Given the description of an element on the screen output the (x, y) to click on. 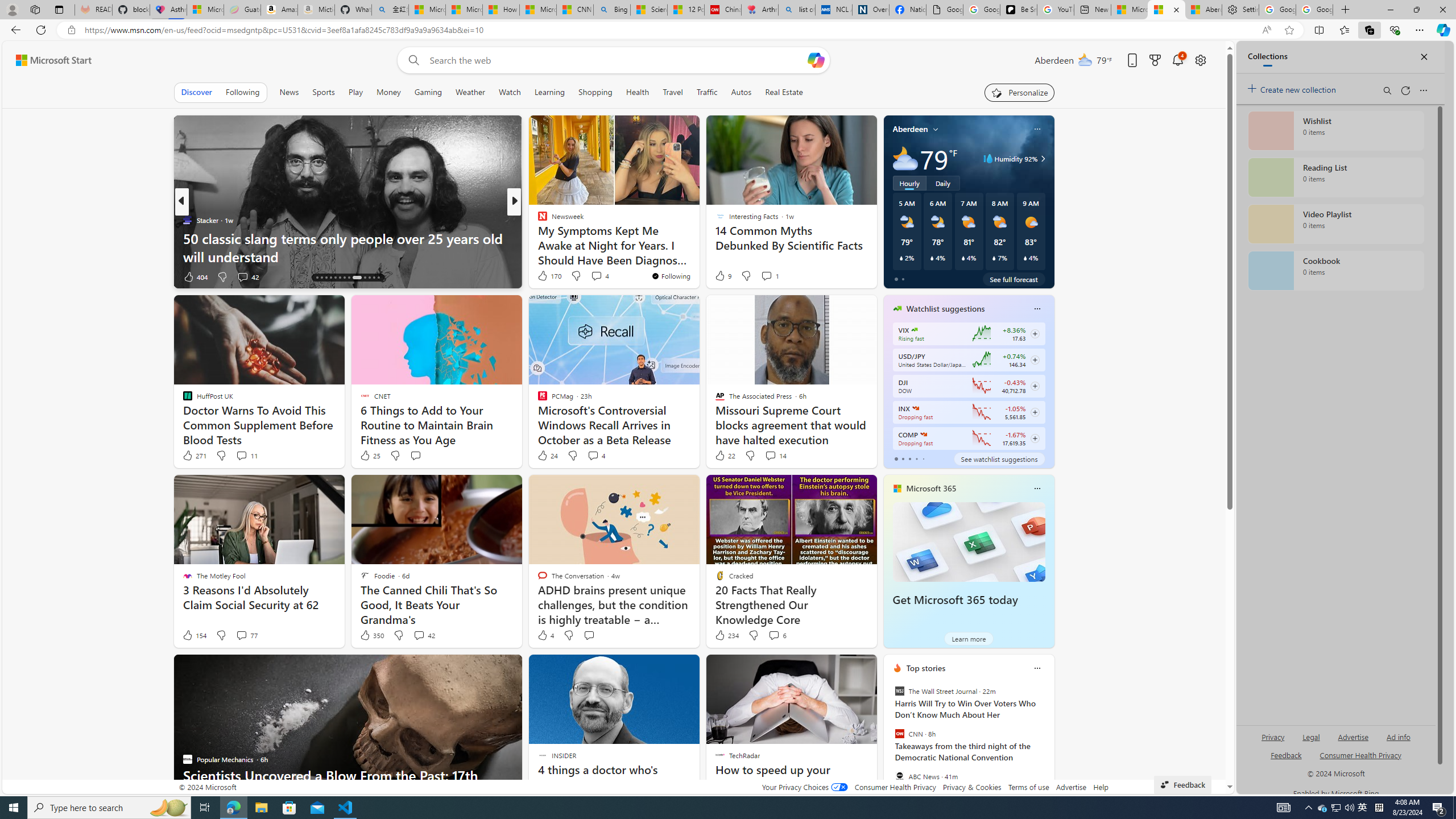
636 Like (545, 276)
AutomationID: sb_feedback (1286, 754)
Learn more (967, 638)
tab-3 (916, 458)
View comments 34 Comment (597, 276)
AutomationID: genId96 (1285, 759)
AutomationID: tab-16 (326, 277)
